Given the description of an element on the screen output the (x, y) to click on. 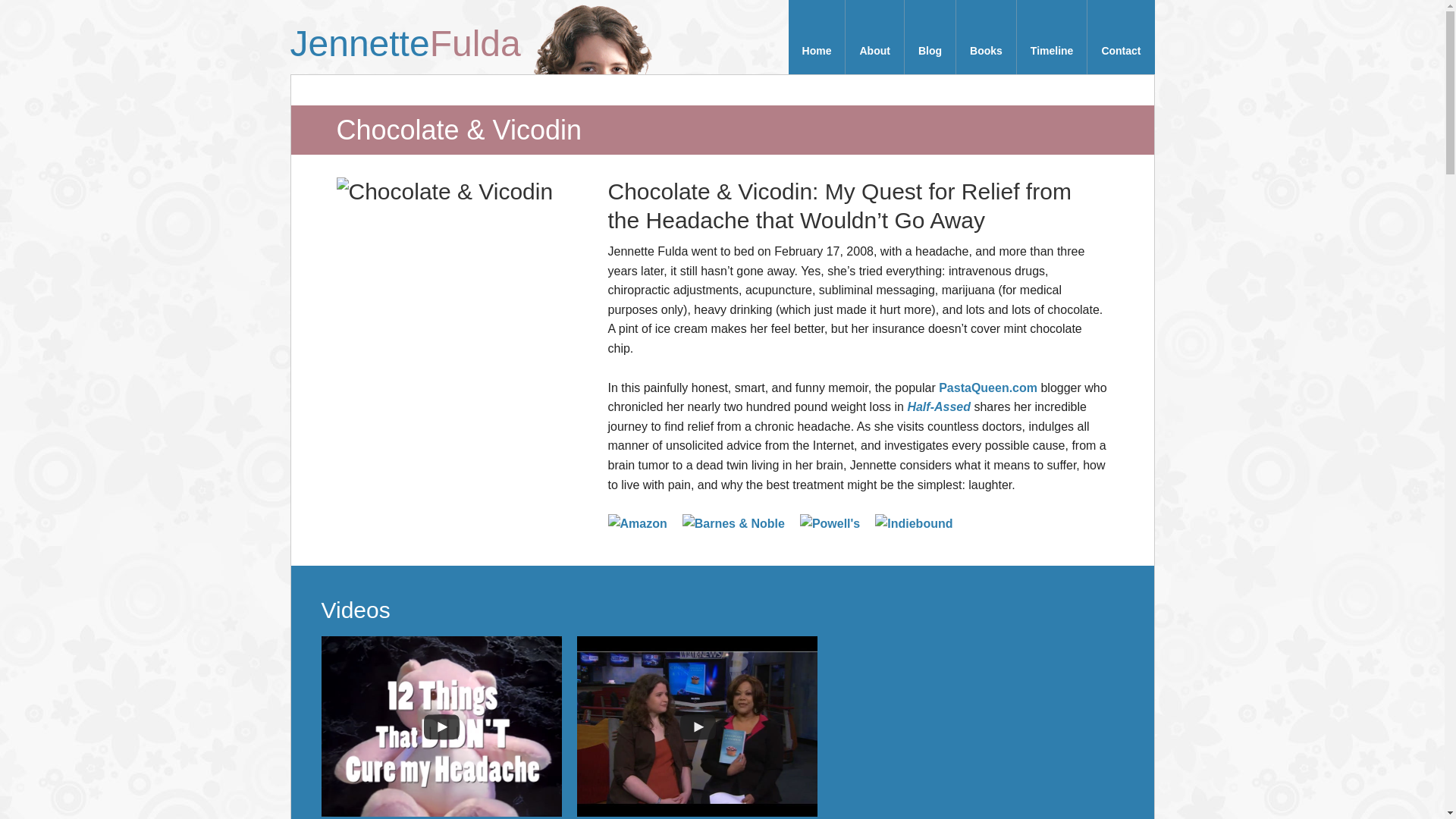
JennetteFulda (410, 33)
Jennette Fulda (410, 33)
PastaQueen.com (987, 387)
Half-Assed (939, 406)
Timeline (1051, 37)
Don't poke my eye out! (592, 37)
Contact (1120, 37)
